Given the description of an element on the screen output the (x, y) to click on. 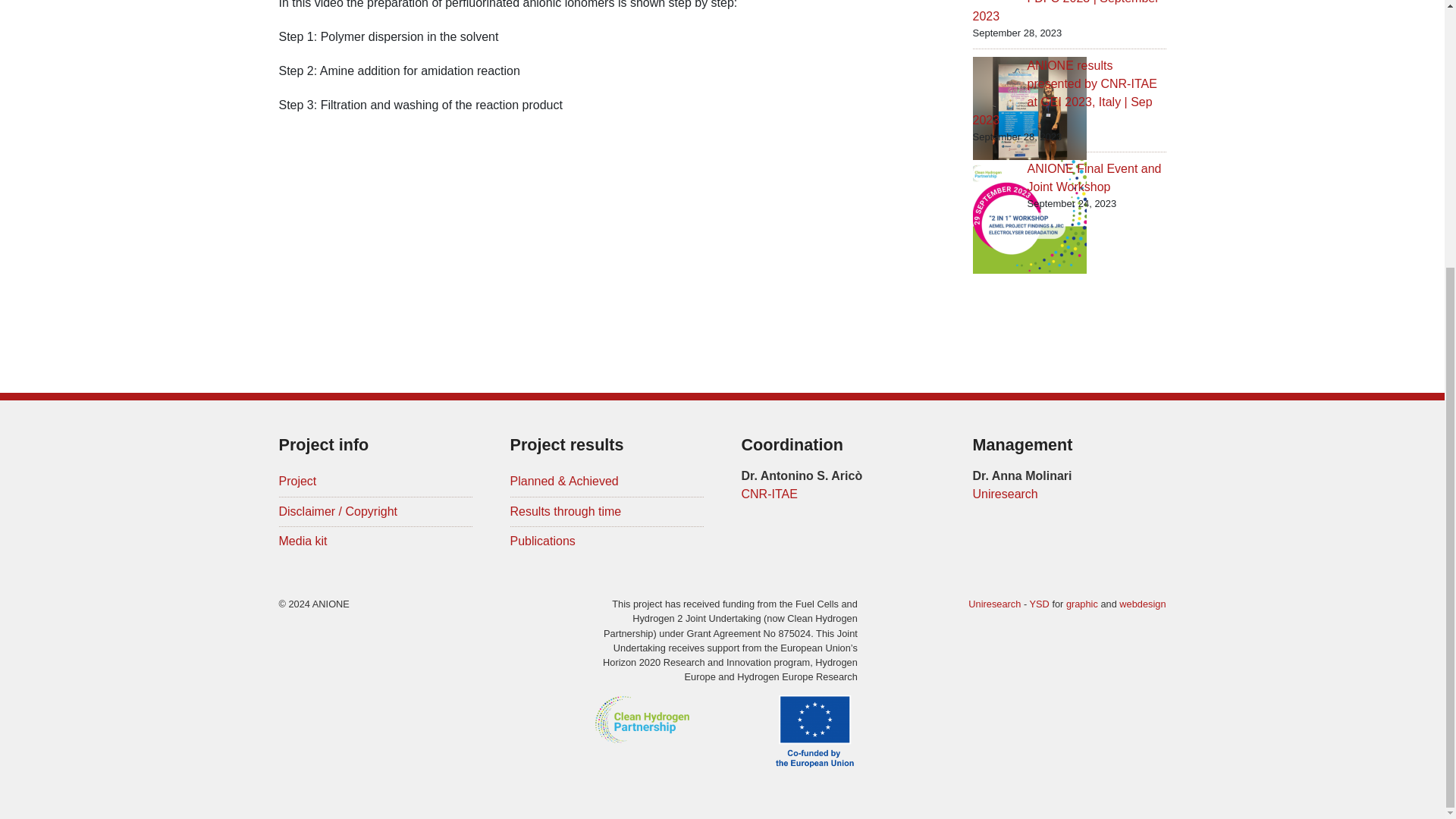
Reclamebureau Yourstyledesign (1039, 603)
Webdesign (1142, 603)
Uniresearch (994, 603)
